Given the description of an element on the screen output the (x, y) to click on. 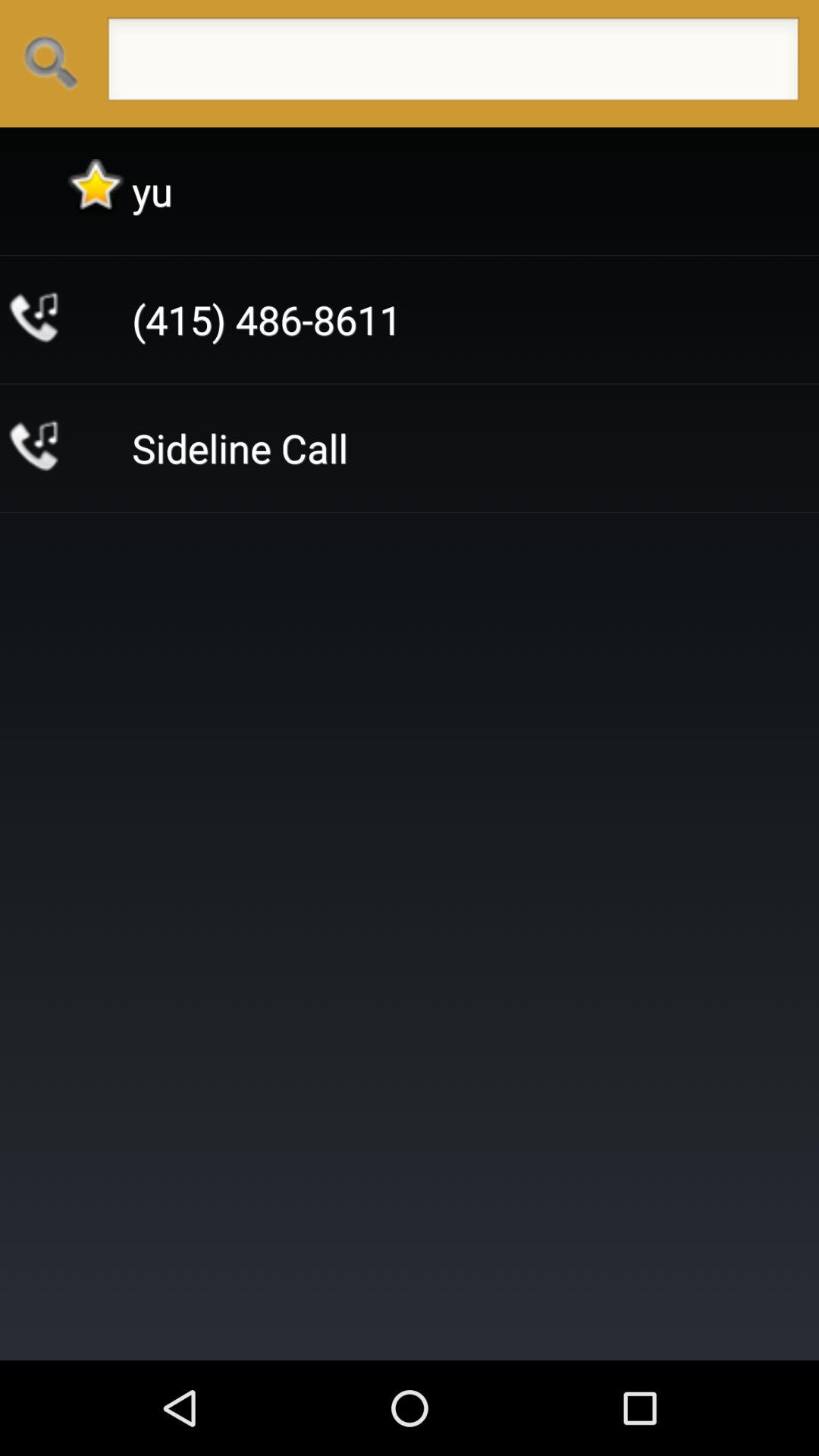
search (453, 63)
